Given the description of an element on the screen output the (x, y) to click on. 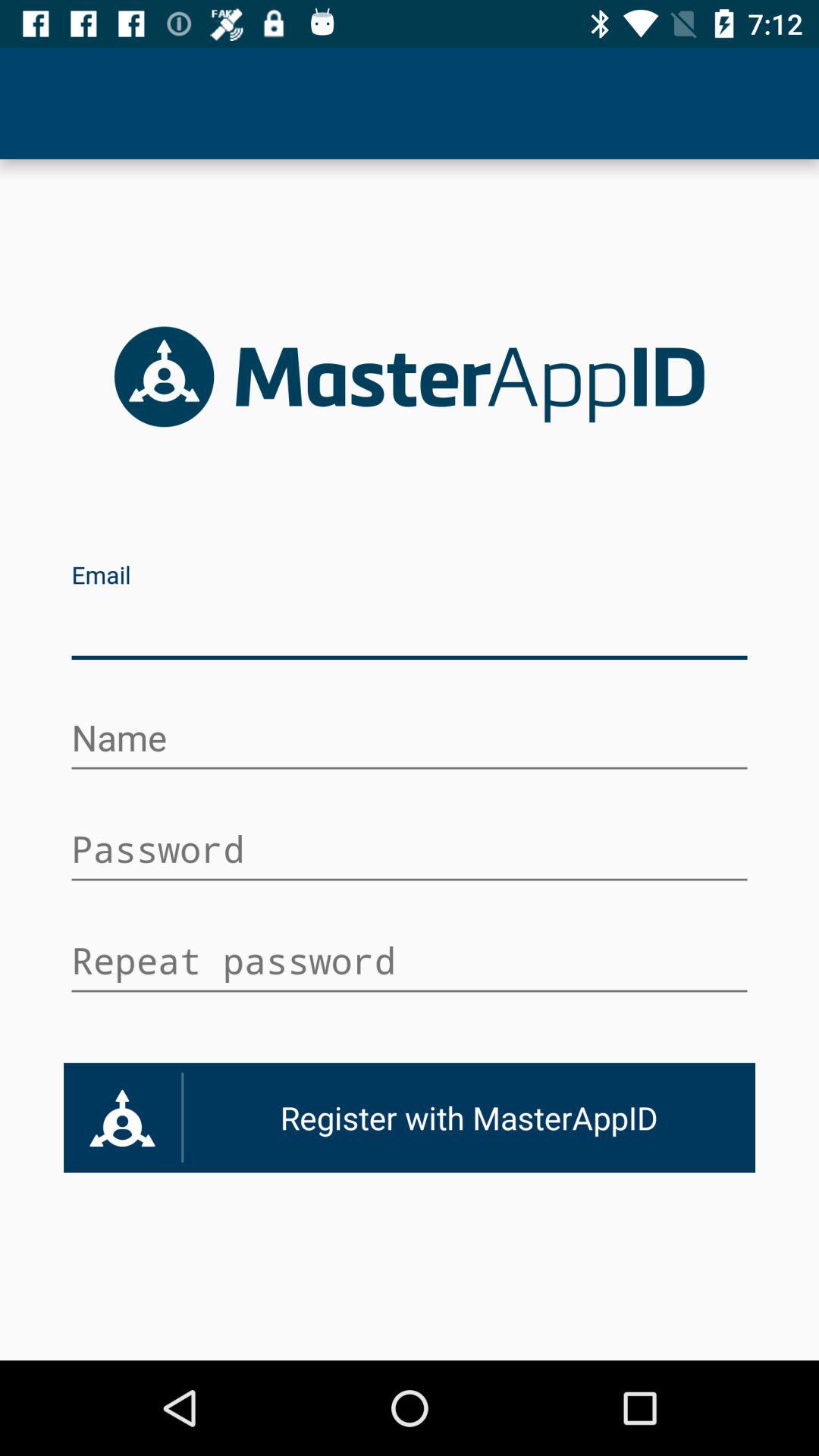
space for entering the password again (409, 962)
